Given the description of an element on the screen output the (x, y) to click on. 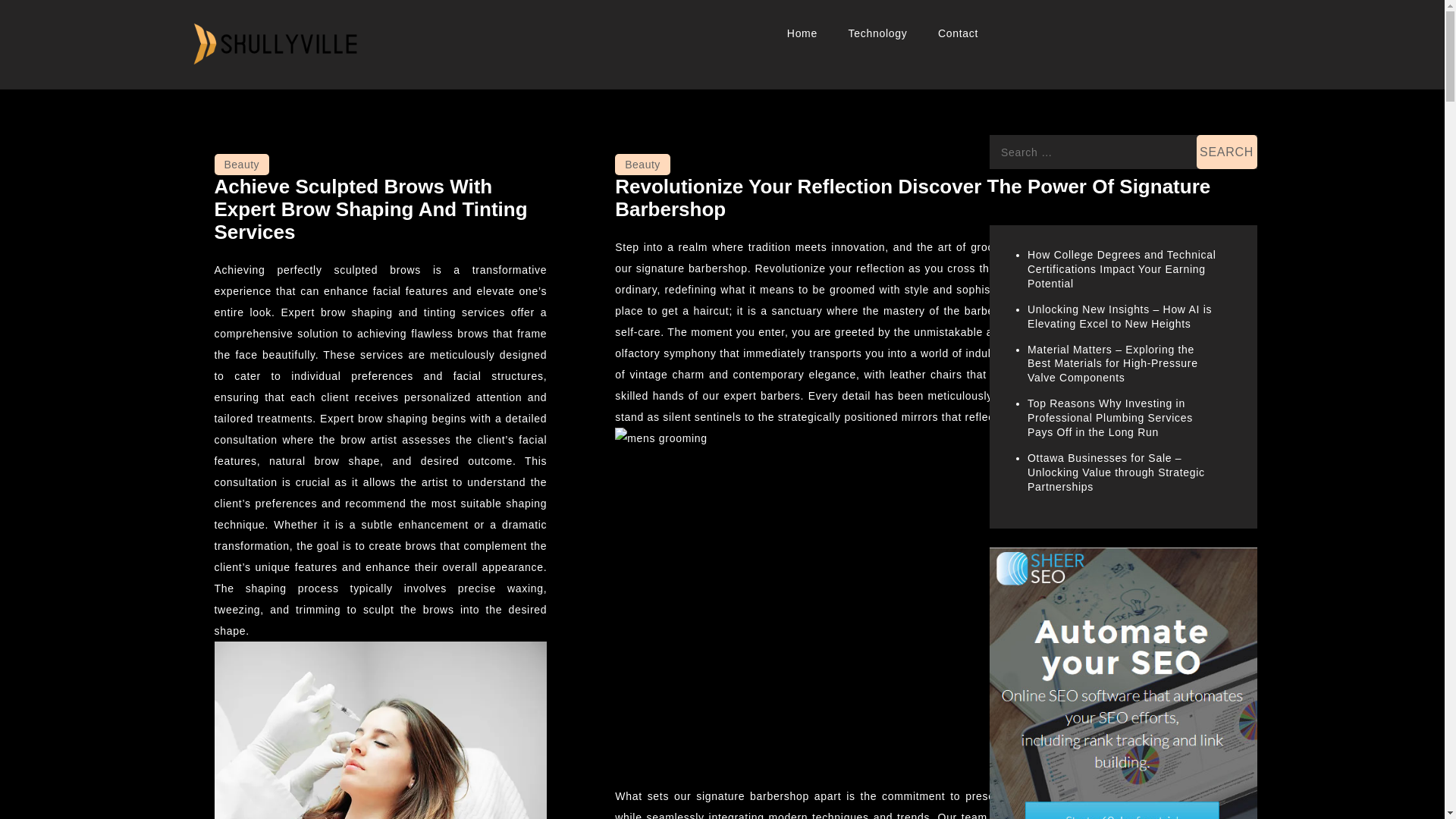
Contact (957, 33)
Search (1226, 151)
Search (1226, 151)
Beauty (241, 164)
Home (802, 33)
Beauty (641, 164)
Positive fitness (272, 91)
Technology (877, 33)
